Given the description of an element on the screen output the (x, y) to click on. 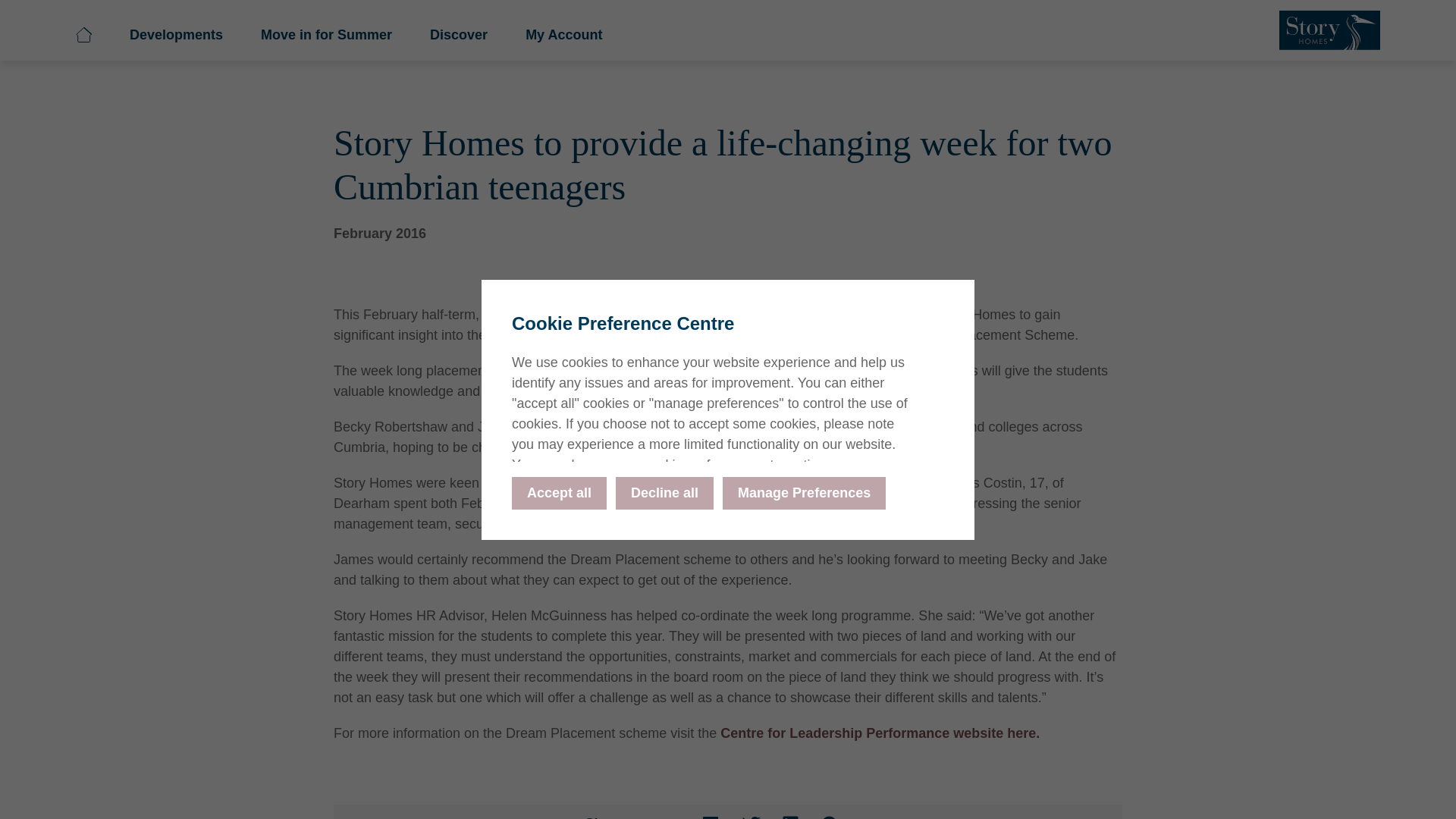
Decline all (664, 491)
Manage Preferences (803, 491)
Accept all (559, 491)
Developments (677, 39)
